Given the description of an element on the screen output the (x, y) to click on. 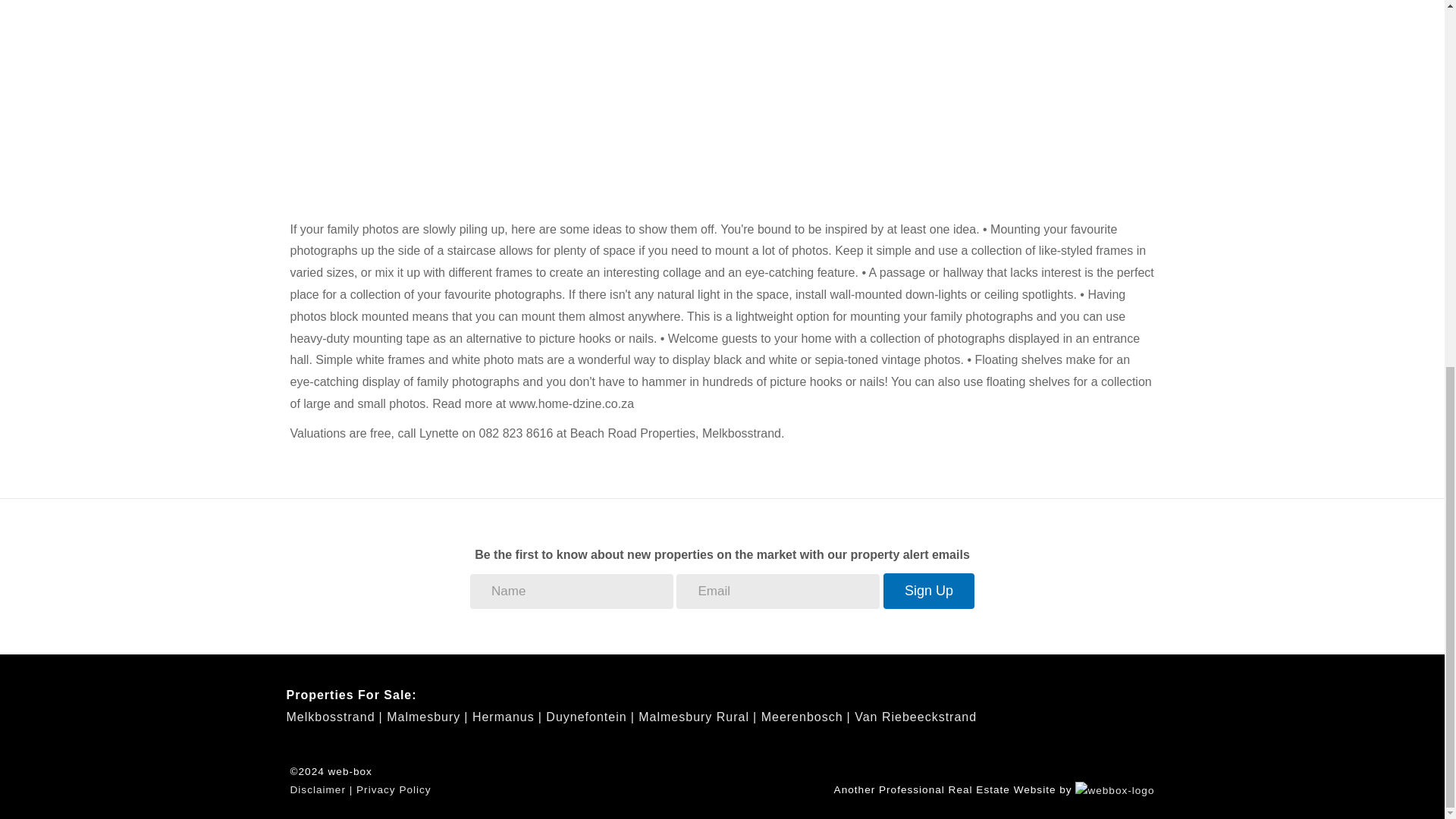
Hermanus (506, 716)
Properties for sale in Meerenbosch, Hermanus (805, 716)
Properties for sale in Hermanus (506, 716)
Malmesbury (427, 716)
Duynefontein (589, 716)
Meerenbosch (805, 716)
Disclaimer (317, 789)
Properties for sale in Malmesbury Rural, Malmesbury (698, 716)
webbox-logo (1114, 791)
Properties for sale in Malmesbury (427, 716)
